Given the description of an element on the screen output the (x, y) to click on. 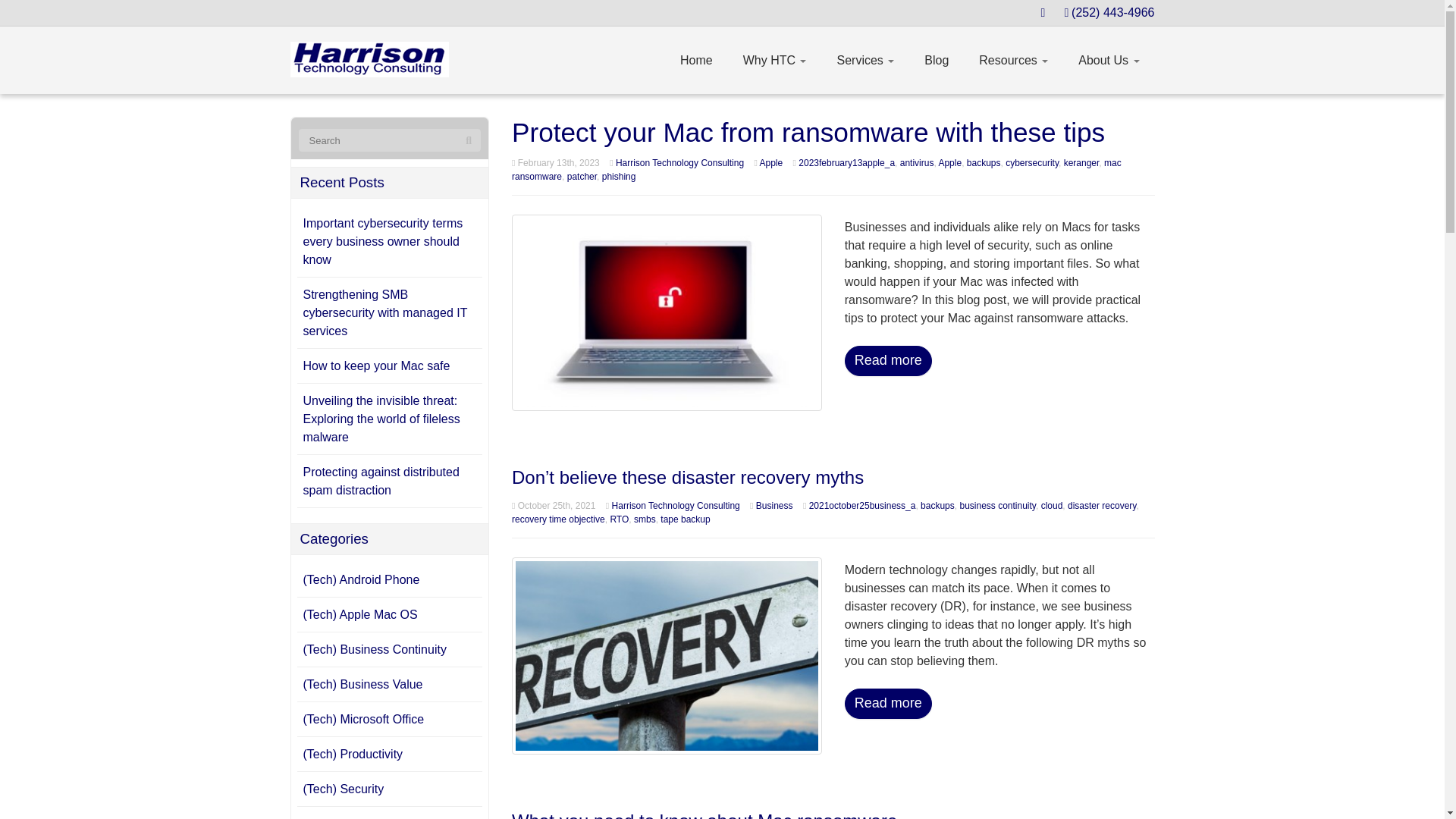
cybersecurity (1032, 163)
mac ransomware (816, 169)
backups (937, 505)
keranger (1081, 163)
recovery time objective (558, 519)
Apple (771, 163)
Apple (948, 163)
Home (696, 60)
Protect your Mac from ransomware with these tips (667, 311)
disaster recovery (1101, 505)
backups (983, 163)
business continuity (997, 505)
Read more (887, 360)
Business (774, 505)
Posts by Harrison Technology Consulting (679, 163)
